Given the description of an element on the screen output the (x, y) to click on. 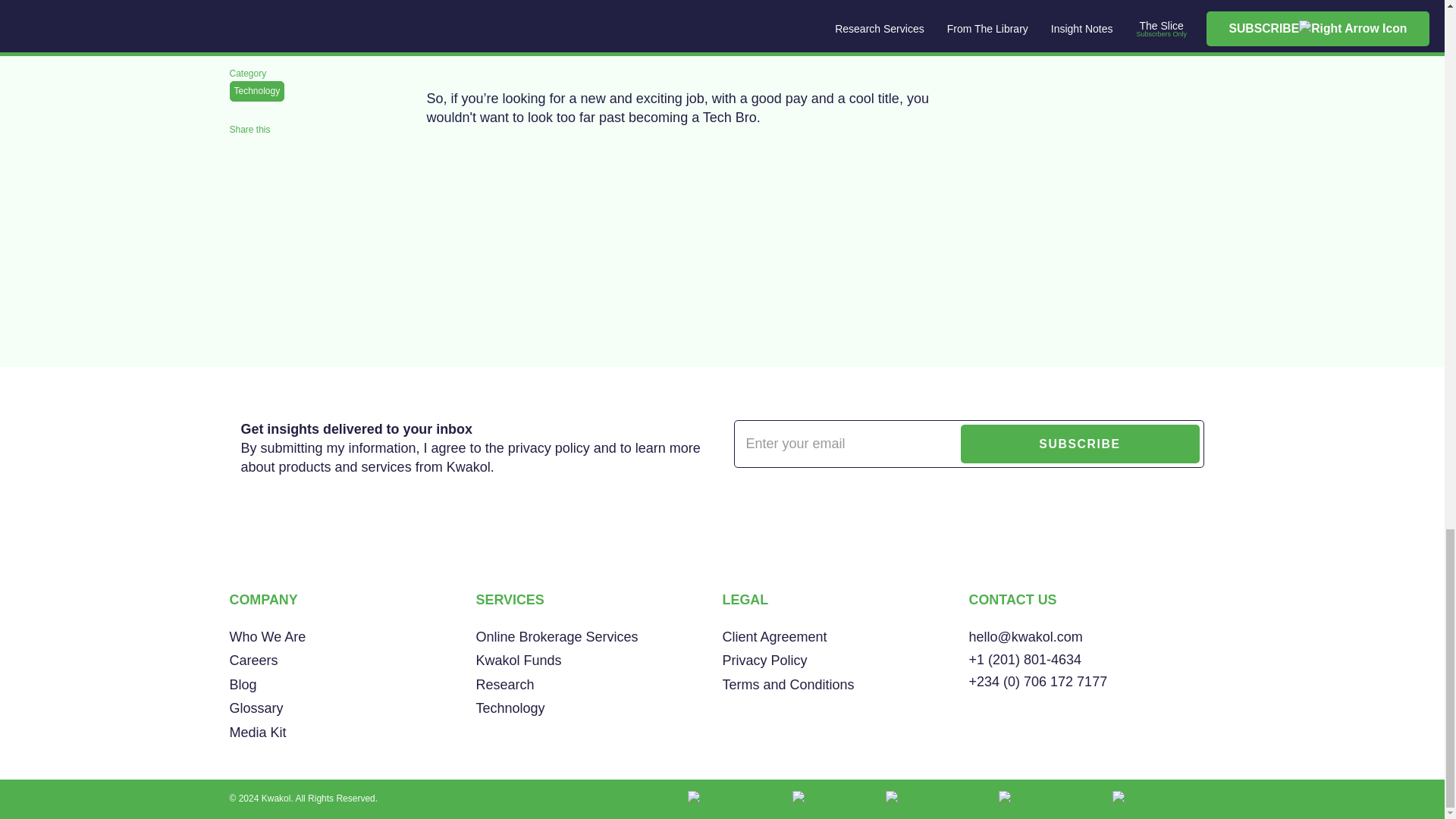
Media Kit (352, 733)
Subscribe (1079, 444)
Kwakol Funds (599, 661)
Blog (352, 685)
Subscribe (1079, 444)
Client Agreement (845, 637)
Research (599, 685)
Terms and Conditions (845, 685)
Privacy Policy (845, 661)
Technology (599, 708)
Online Brokerage Services (599, 637)
Who We Are (352, 637)
Glossary (352, 708)
Careers (352, 661)
